Given the description of an element on the screen output the (x, y) to click on. 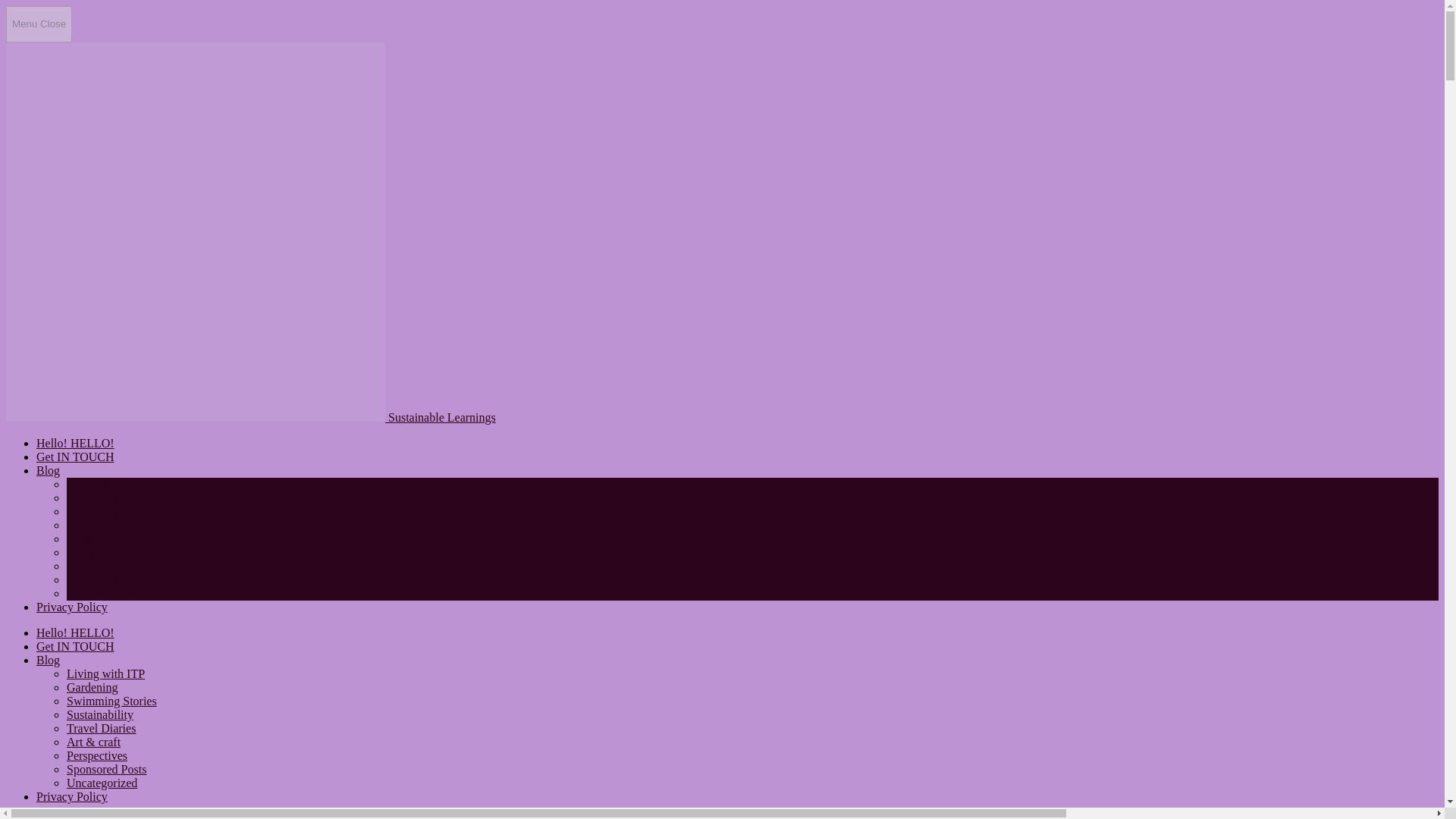
Uncategorized (101, 593)
Get IN TOUCH (75, 645)
Blog (47, 470)
Sponsored Posts (106, 579)
Privacy Policy (71, 606)
Sponsored Posts (106, 768)
Travel Diaries (100, 727)
Sustainability (99, 714)
Swimming Stories (111, 511)
Sustainability (99, 524)
Perspectives (97, 755)
Gardening (91, 686)
Swimming Stories (111, 700)
Travel Diaries (100, 538)
Uncategorized (101, 782)
